Given the description of an element on the screen output the (x, y) to click on. 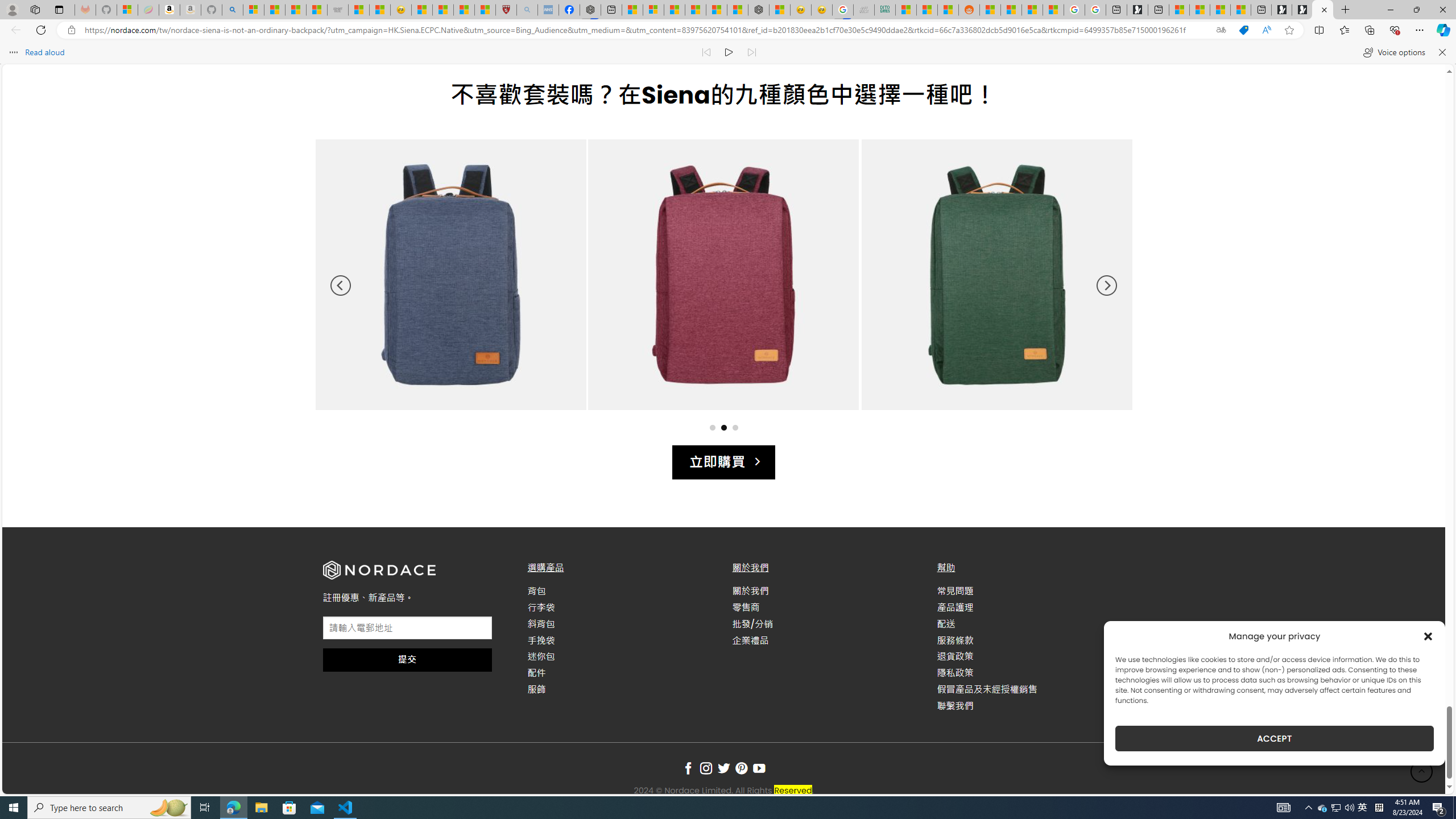
R******* | Trusted Community Engagement and Contributions (990, 9)
